Given the description of an element on the screen output the (x, y) to click on. 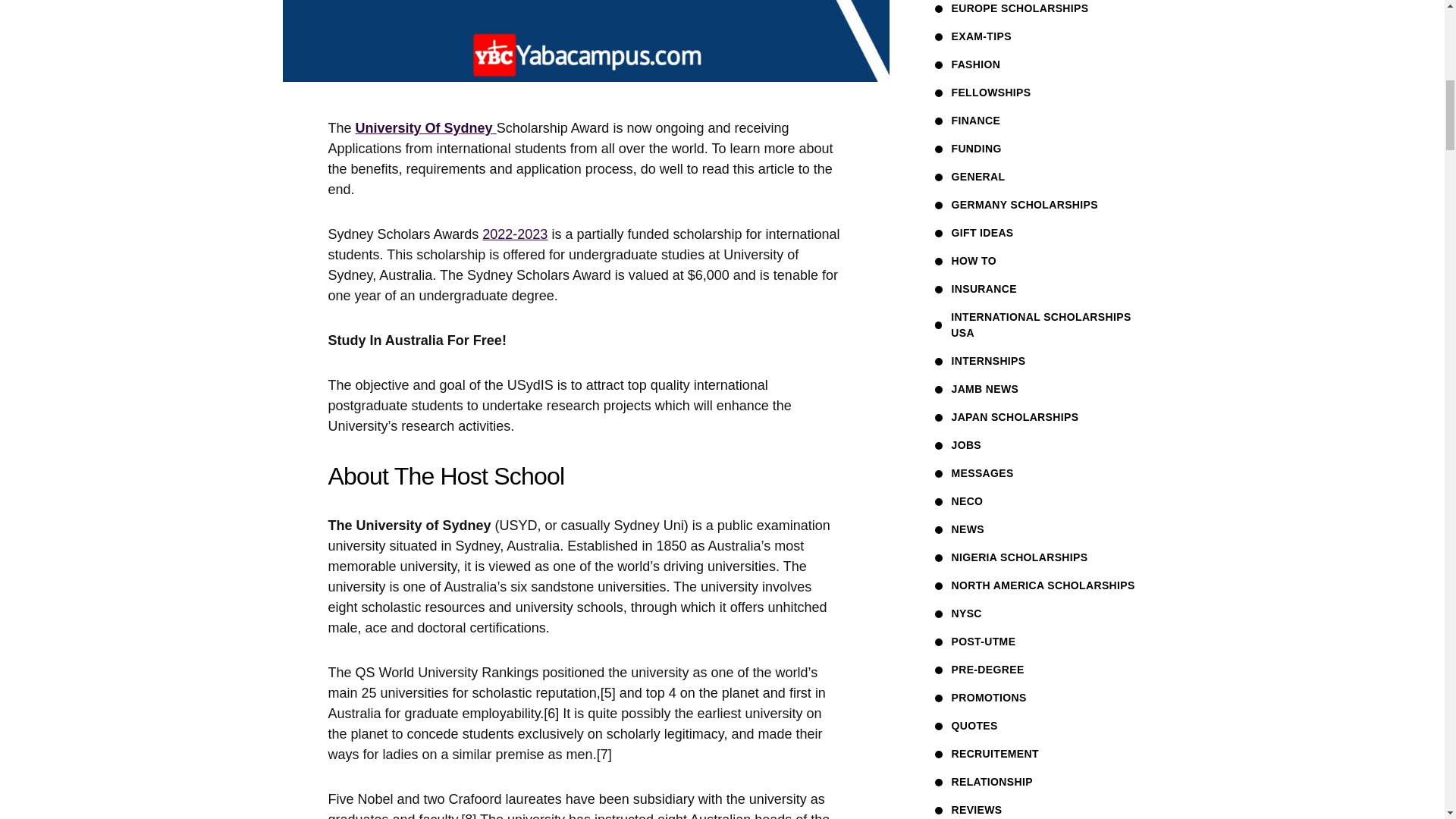
2022-2023 (514, 233)
University Of Sydney (425, 127)
